Given the description of an element on the screen output the (x, y) to click on. 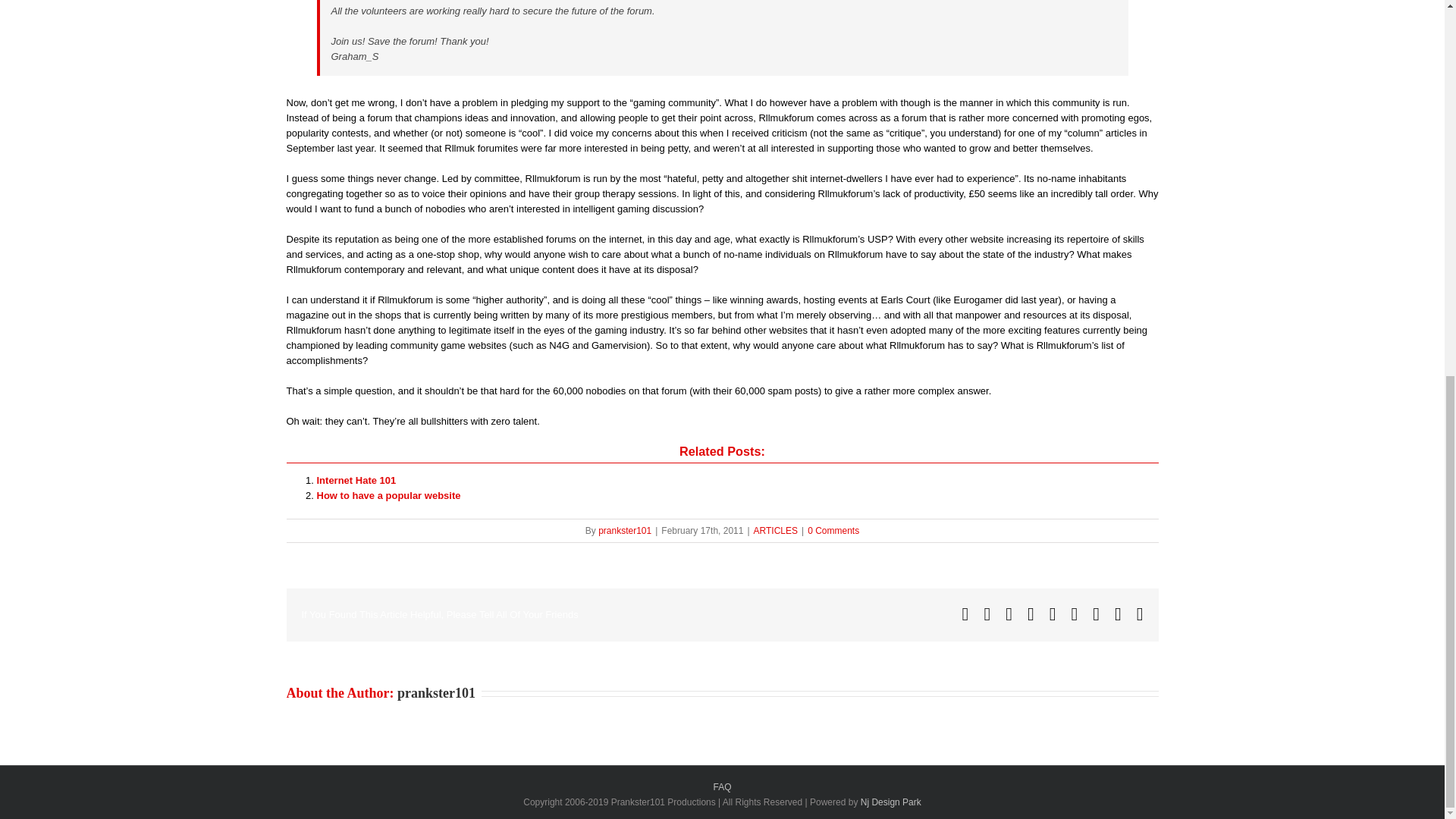
Internet Hate 101 (356, 480)
Posts by prankster101 (624, 530)
Nj Design Park (890, 801)
0 Comments (833, 530)
prankster101 (436, 693)
Internet Hate 101 (356, 480)
ARTICLES (775, 530)
How to have a popular website (389, 495)
How to have a popular website (389, 495)
prankster101 (624, 530)
